Given the description of an element on the screen output the (x, y) to click on. 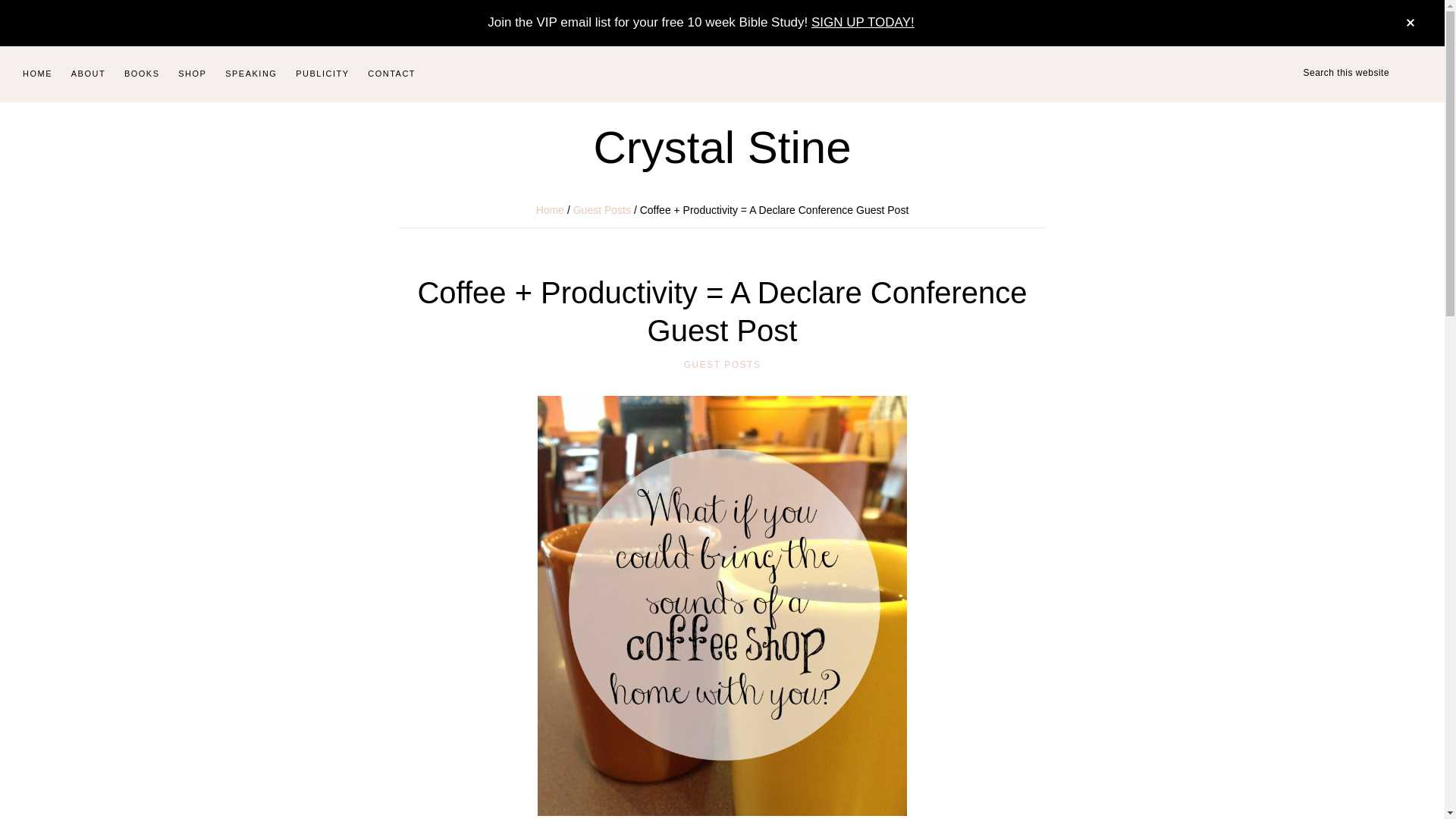
PUBLICITY (322, 73)
BOOKS (141, 73)
GUEST POSTS (722, 364)
HOME (36, 73)
SPEAKING (249, 73)
ABOUT (88, 73)
Guest Posts (601, 209)
SHOP (192, 73)
Crystal Stine (721, 147)
Home (549, 209)
SIGN UP TODAY! (862, 22)
